Given the description of an element on the screen output the (x, y) to click on. 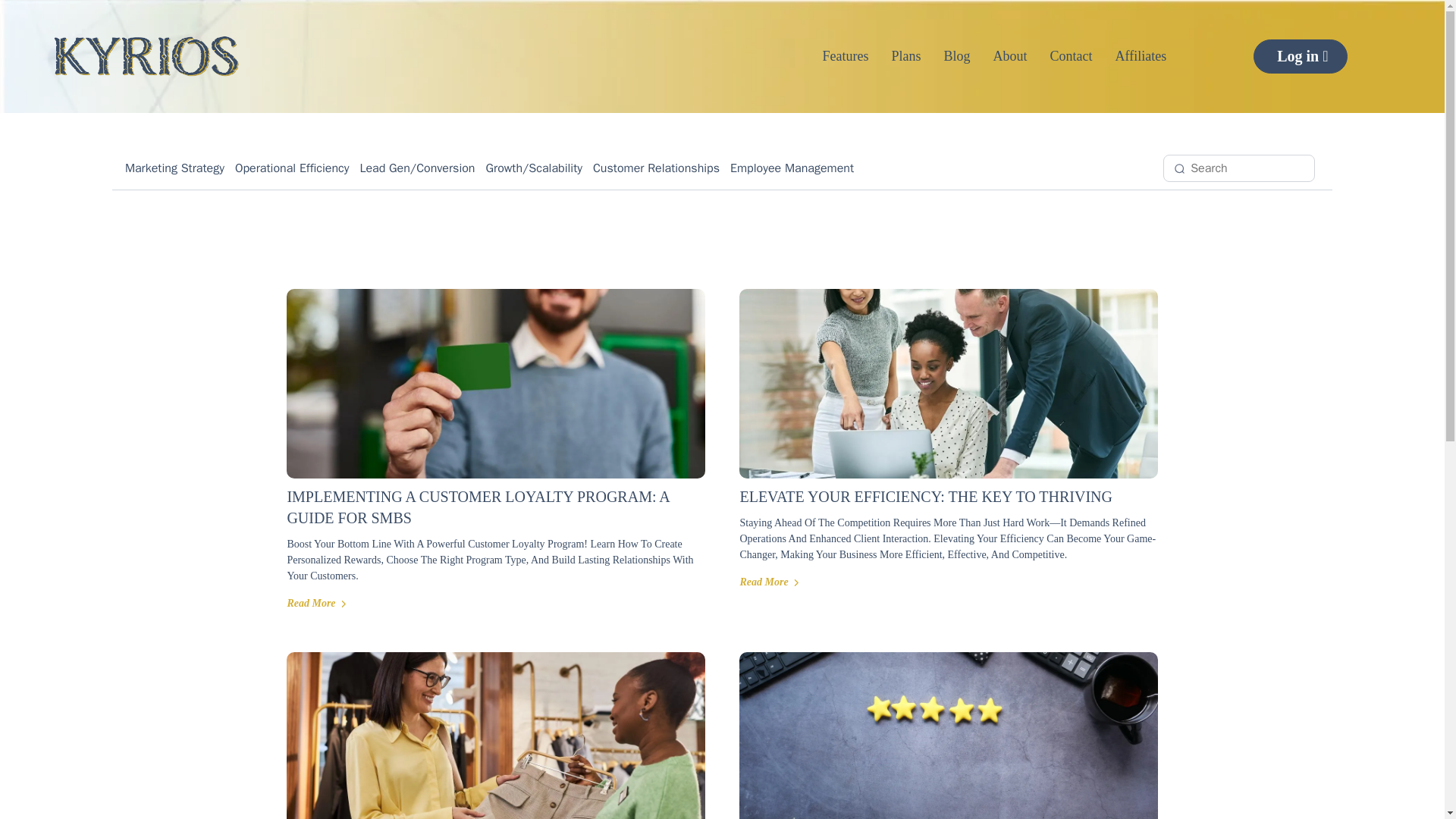
Read More (769, 582)
About (1010, 56)
Employee Management (792, 168)
Marketing Strategy (174, 168)
Read More (316, 603)
Features (845, 56)
Affiliates (1140, 56)
Blog (957, 56)
Plans (906, 56)
Contact (1071, 56)
